Given the description of an element on the screen output the (x, y) to click on. 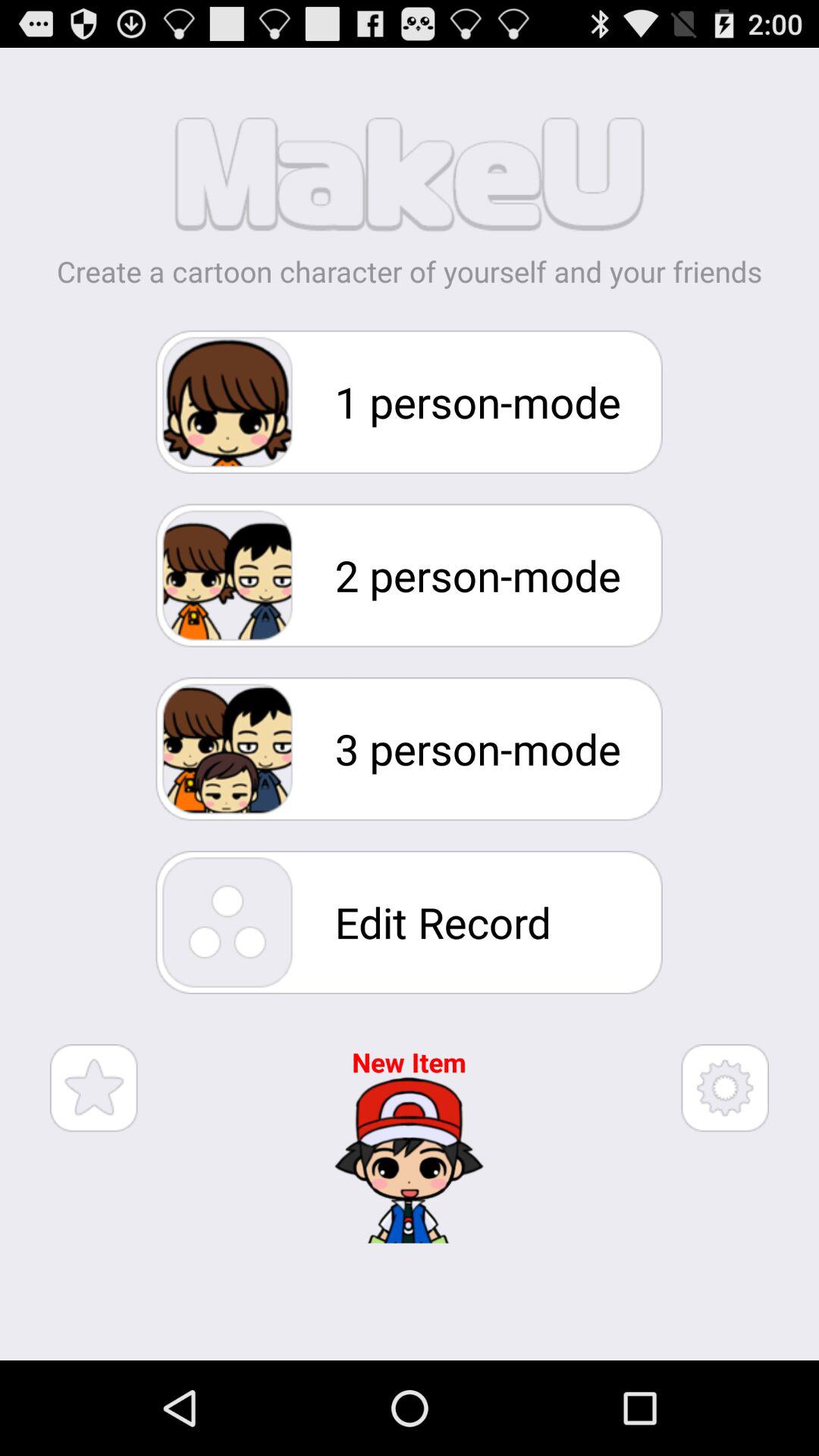
settings and options for this app (724, 1087)
